Given the description of an element on the screen output the (x, y) to click on. 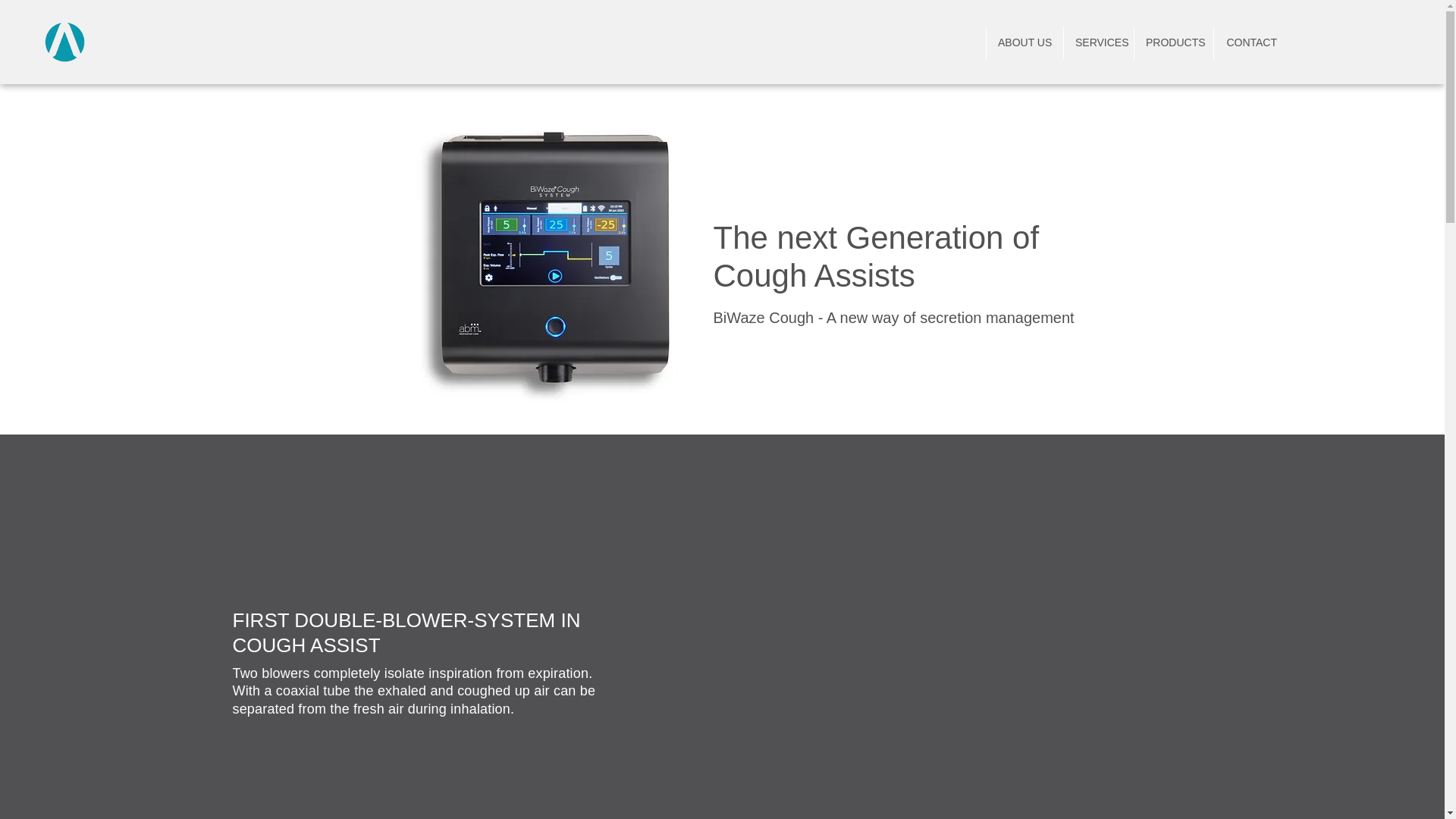
ABOUT US (1023, 42)
PRODUCTS (1173, 42)
SERVICES (1098, 42)
CONTACT (1250, 42)
